Given the description of an element on the screen output the (x, y) to click on. 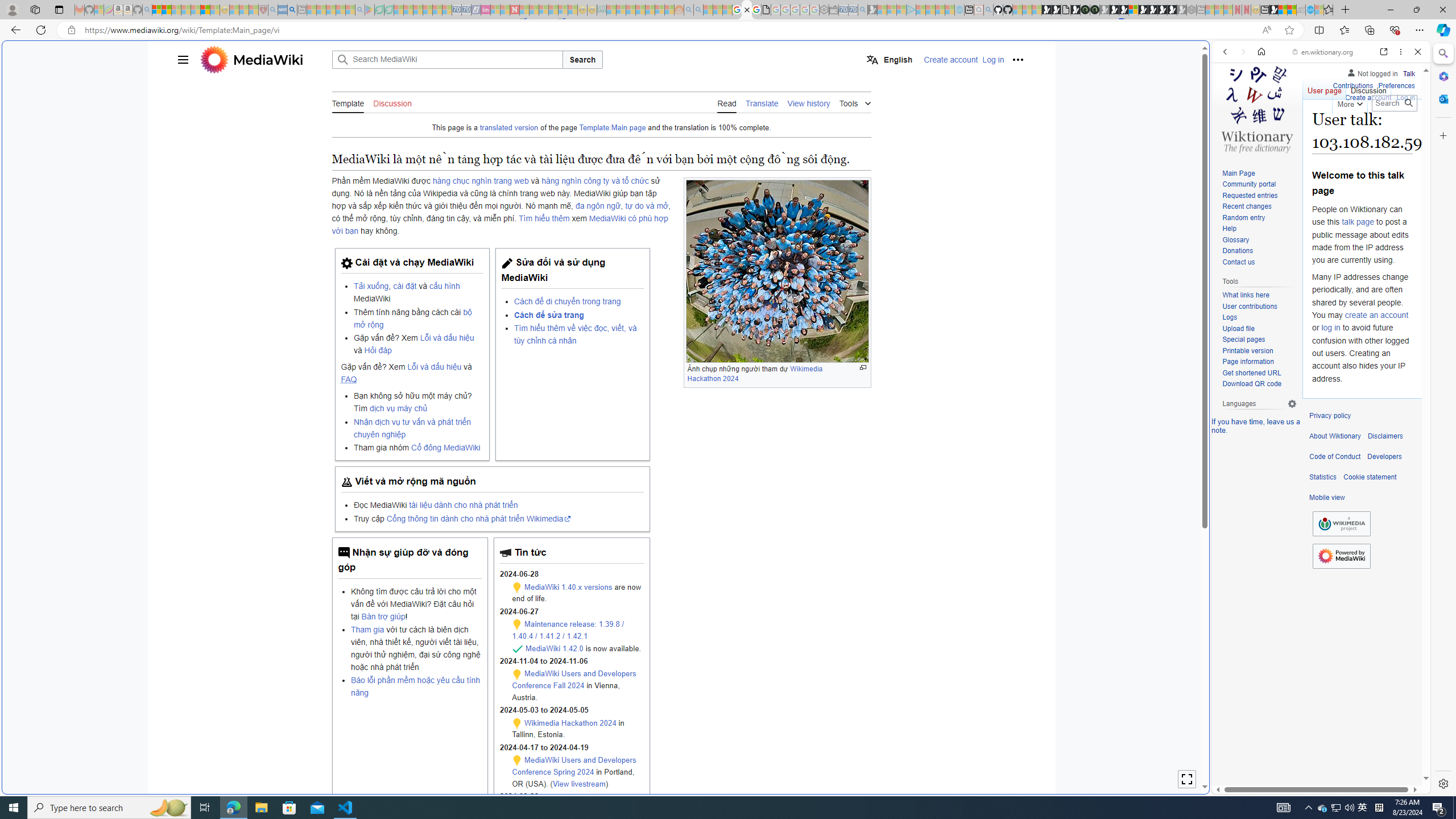
Requested entries (1249, 194)
Sign in to your account (1133, 9)
MediaWiki (268, 59)
Translate (761, 102)
Language settings (1292, 403)
